Given the description of an element on the screen output the (x, y) to click on. 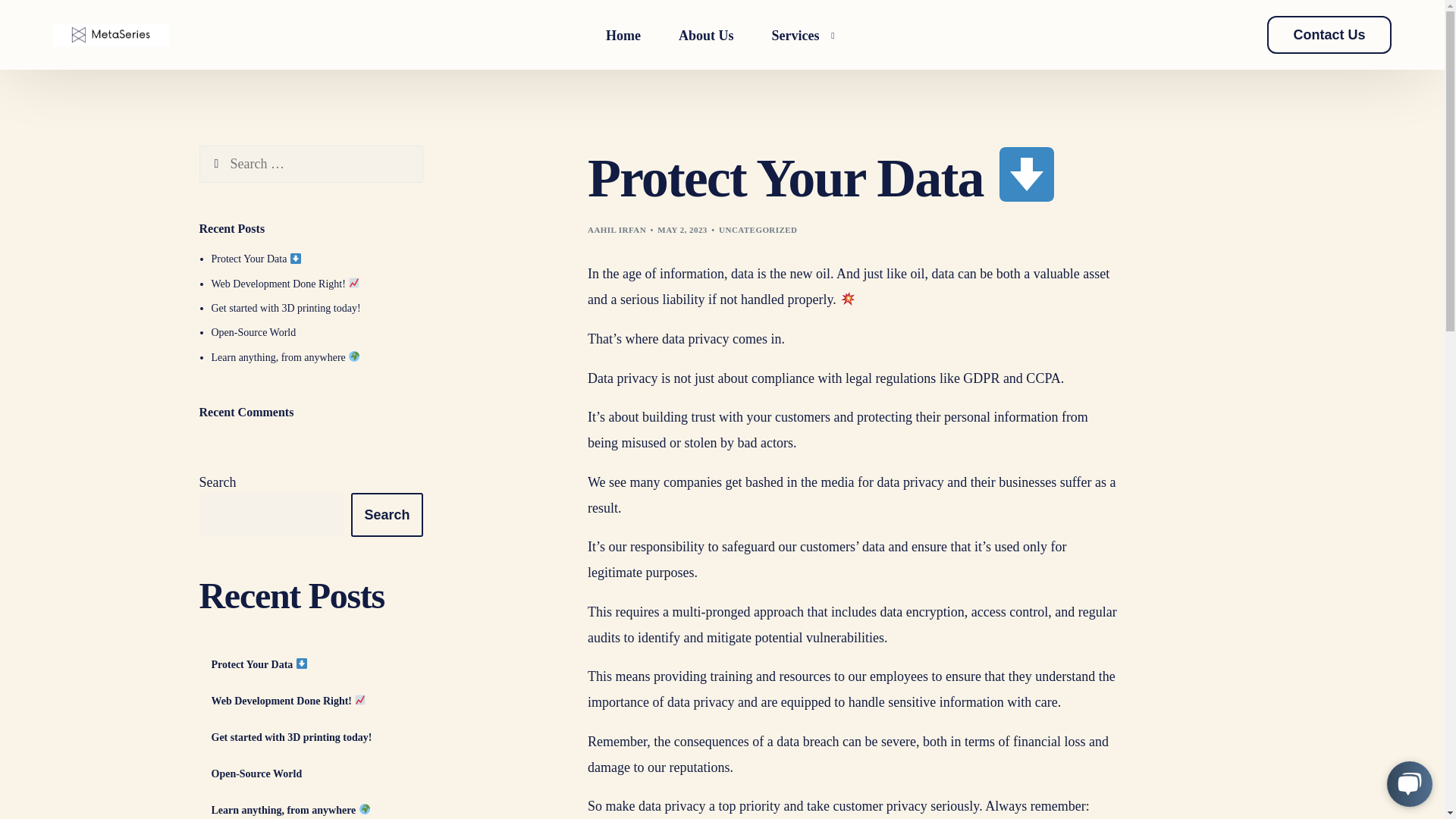
Search (386, 516)
Posts by Aahil Irfan (617, 229)
Get started with 3D printing today! (285, 310)
Learn anything, from anywhere  (285, 358)
Learn anything, from anywhere  (316, 811)
Search (224, 167)
Web Development Done Right! (285, 286)
AAHIL IRFAN (617, 243)
Web Development Done Right! (316, 702)
Get started with 3D printing today! (316, 738)
Protect Your Data (256, 262)
Protect Your Data (316, 666)
Open-Source World (316, 775)
Open-Source World (253, 335)
Contact Us (1328, 83)
